Given the description of an element on the screen output the (x, y) to click on. 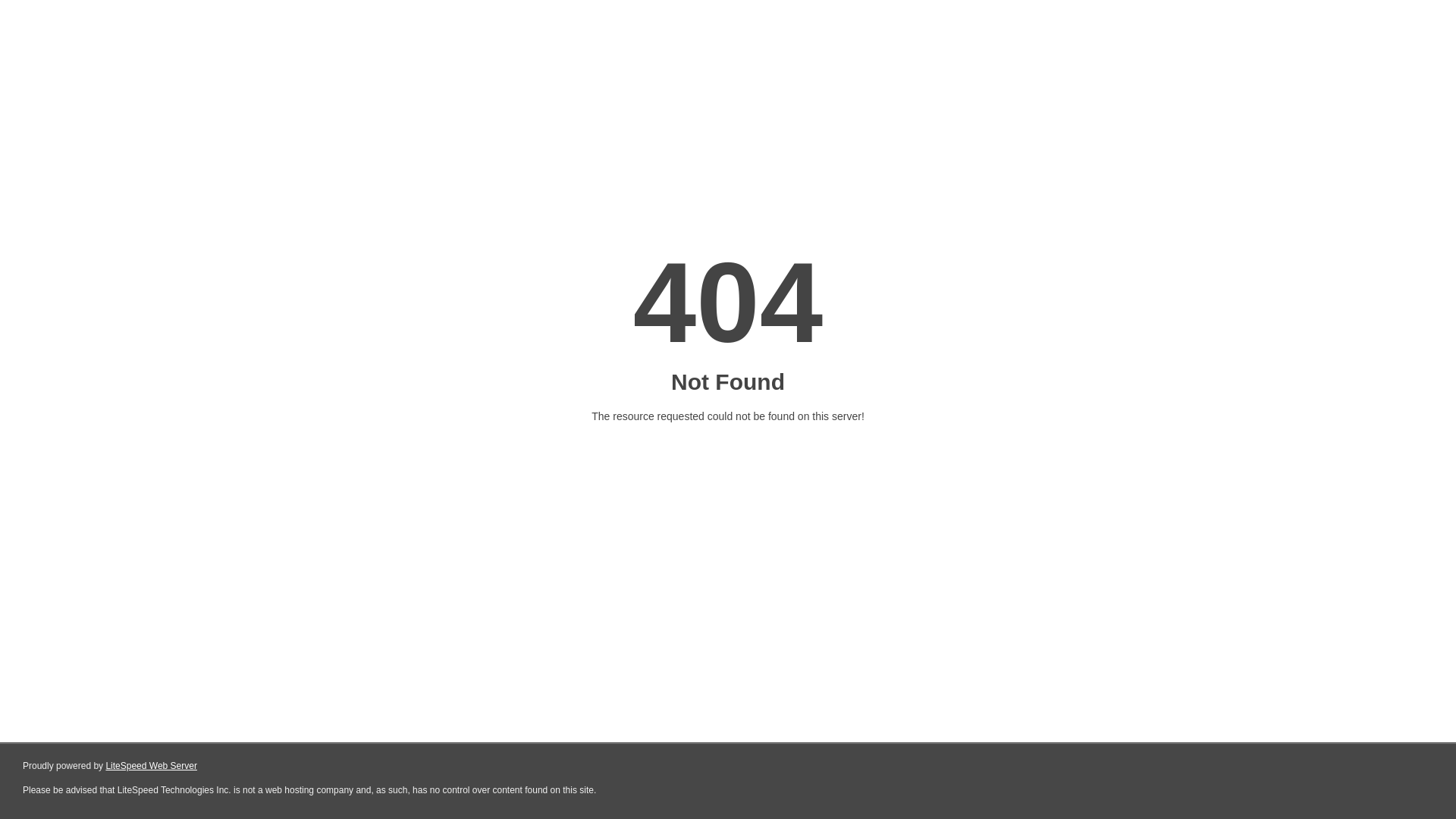
LiteSpeed Web Server Element type: text (151, 765)
